Given the description of an element on the screen output the (x, y) to click on. 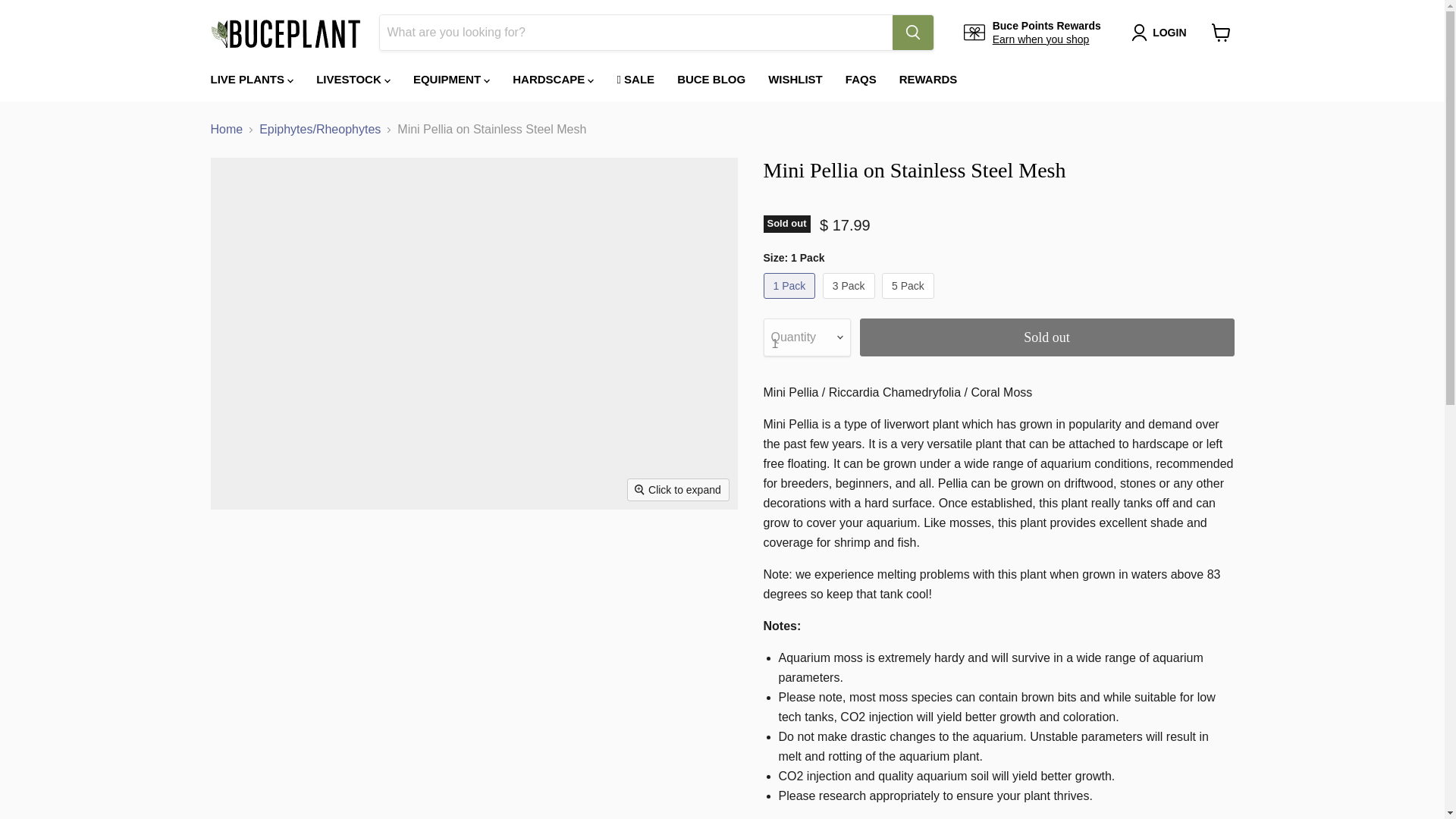
BuceRewards (1040, 39)
LOGIN (1169, 32)
Earn when you shop (1040, 39)
View cart (1221, 32)
